Given the description of an element on the screen output the (x, y) to click on. 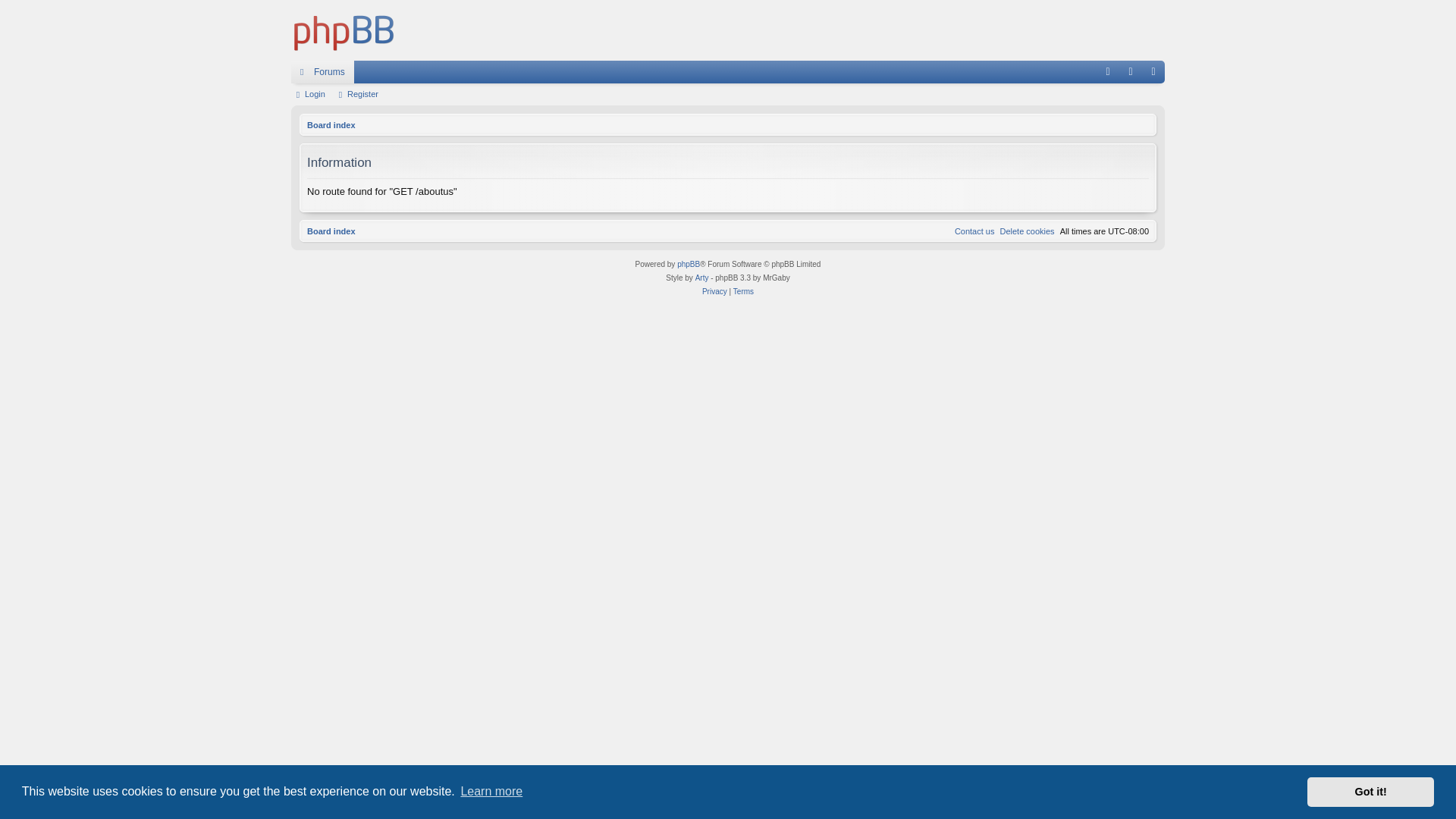
Register Element type: text (358, 94)
Board index Element type: hover (344, 30)
Board index Element type: text (331, 124)
Learn more Element type: text (491, 791)
Delete cookies Element type: text (1026, 230)
Contact us Element type: text (974, 230)
phpBB Element type: text (688, 264)
Forums Element type: text (322, 71)
FAQ Element type: text (1107, 71)
Login Element type: text (311, 94)
Login Element type: text (1130, 71)
Board index Element type: text (331, 230)
Privacy Element type: text (714, 291)
Register Element type: text (1153, 71)
Got it! Element type: text (1370, 791)
Terms Element type: text (743, 291)
Arty Element type: text (702, 278)
